Given the description of an element on the screen output the (x, y) to click on. 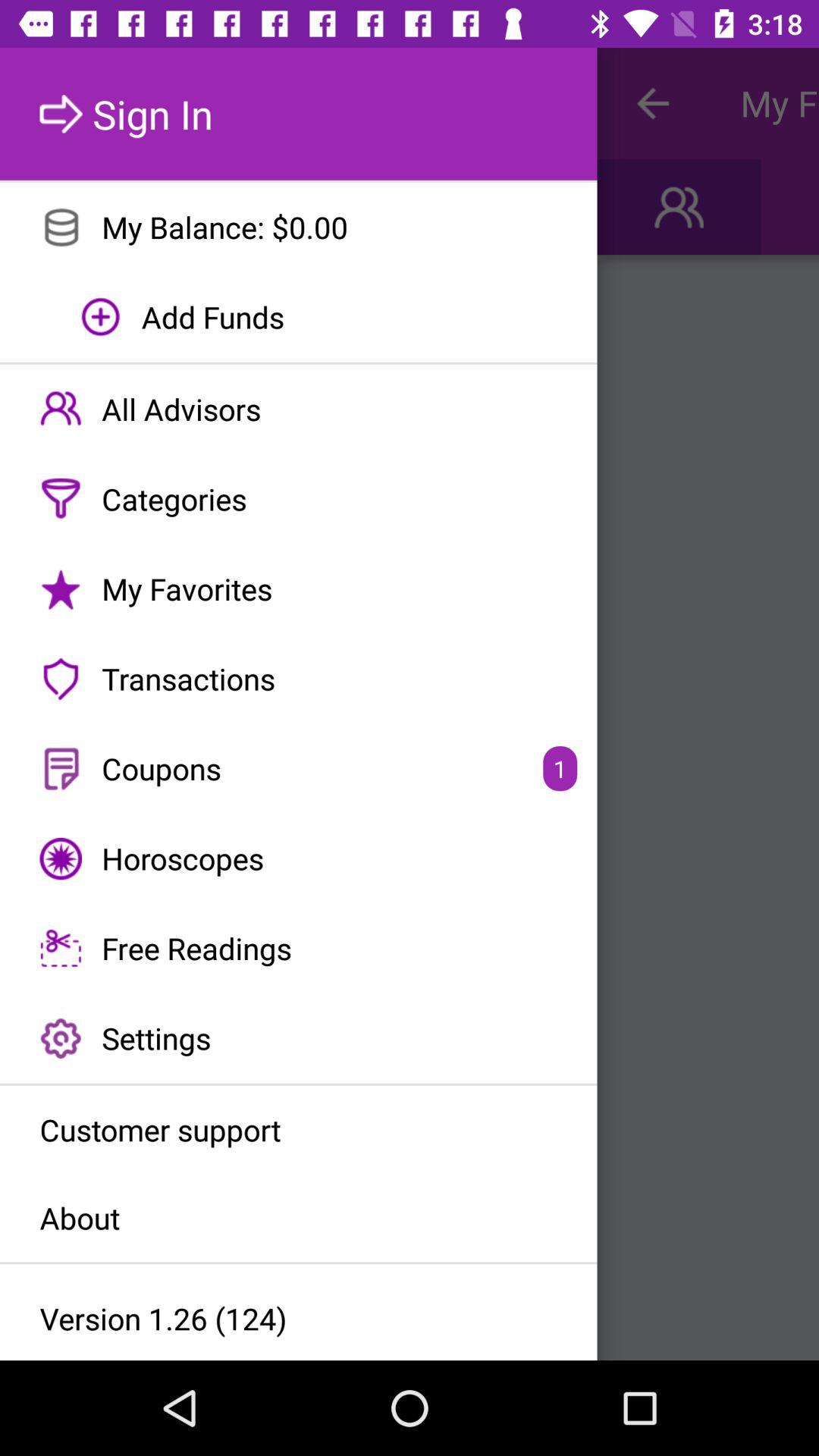
choose icon above the free readings item (298, 858)
